Given the description of an element on the screen output the (x, y) to click on. 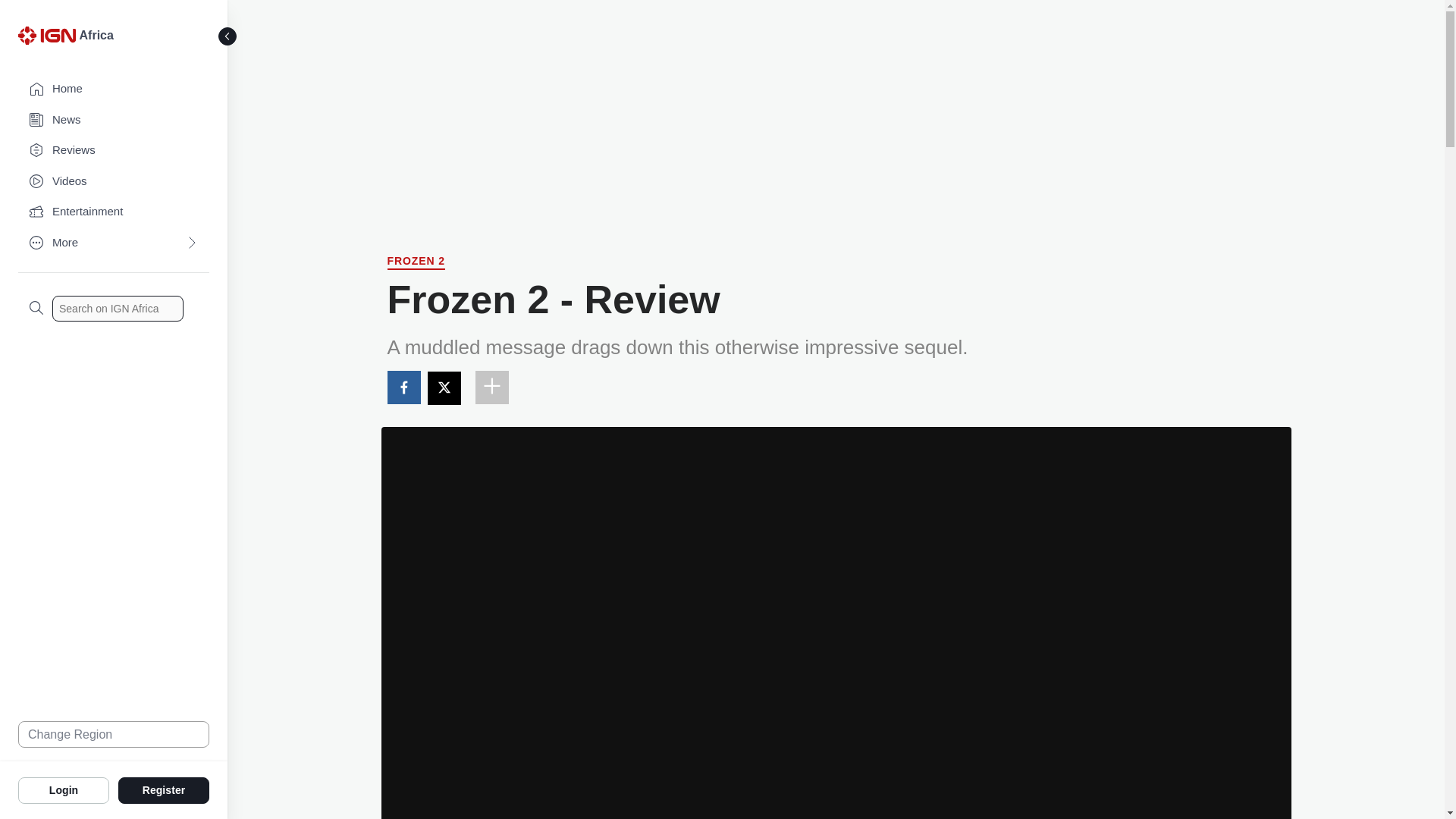
Frozen 2 (415, 262)
Entertainment (113, 211)
FROZEN 2 (415, 262)
Videos (113, 181)
Toggle Sidebar (226, 36)
IGN Logo (48, 39)
Home (113, 89)
News (113, 119)
IGN Logo (46, 34)
Login (63, 789)
